Given the description of an element on the screen output the (x, y) to click on. 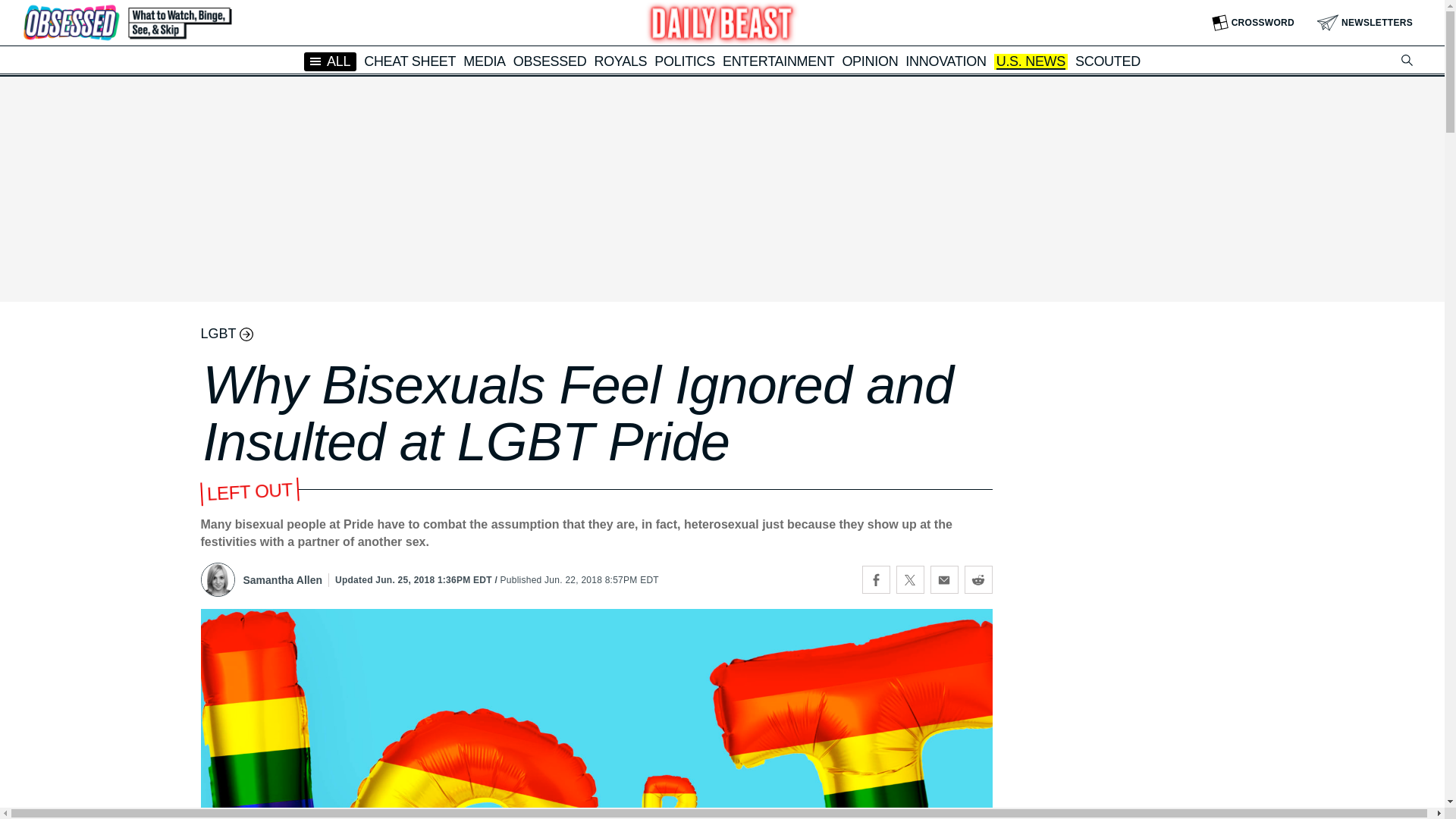
CROSSWORD (1252, 22)
U.S. NEWS (1030, 61)
CHEAT SHEET (409, 60)
OBSESSED (549, 60)
MEDIA (484, 60)
NEWSLETTERS (1364, 22)
OPINION (869, 60)
ENTERTAINMENT (778, 60)
INNOVATION (945, 60)
ROYALS (620, 60)
